Given the description of an element on the screen output the (x, y) to click on. 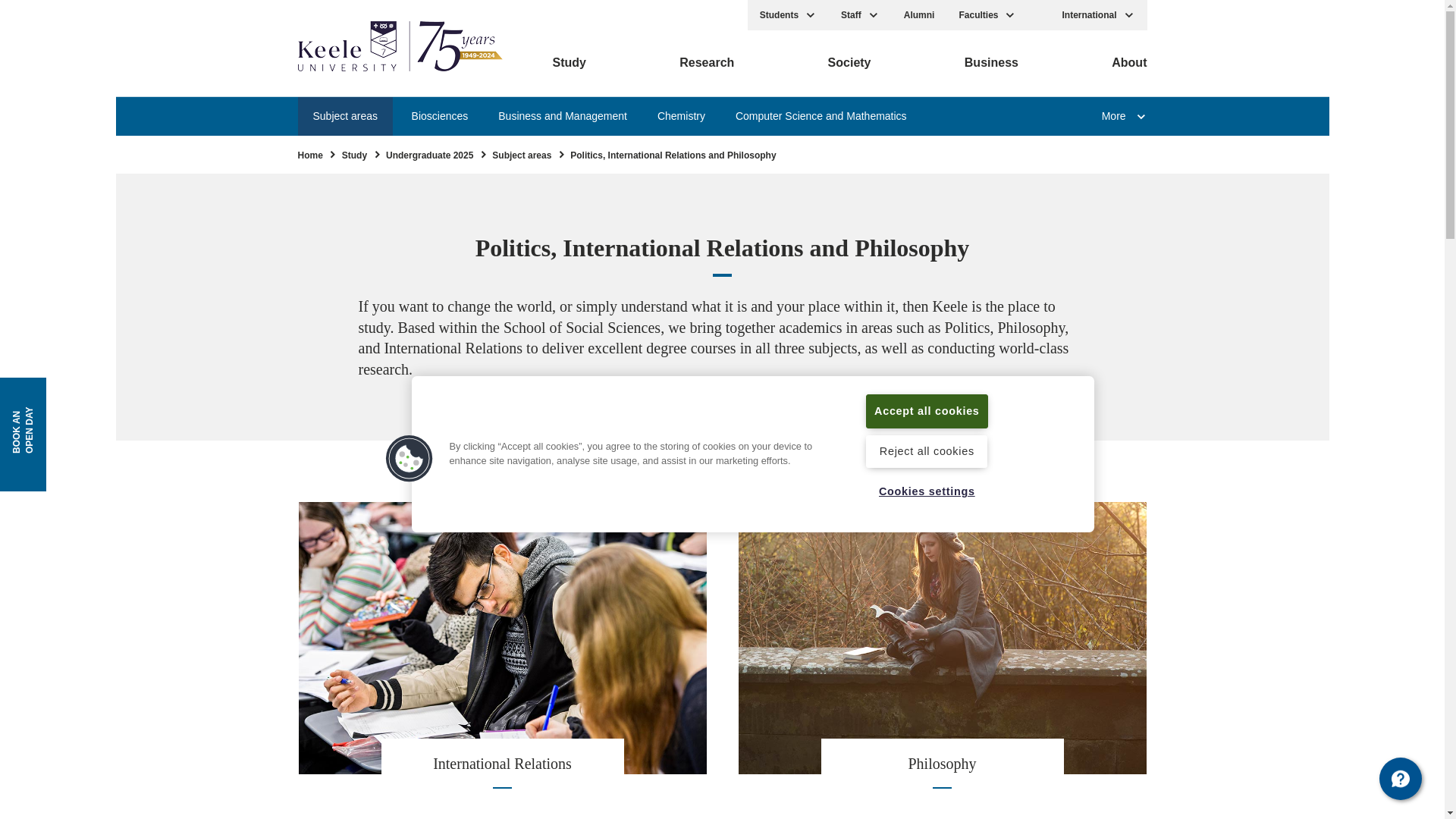
International (1098, 15)
Faculties (986, 15)
Open the Search Bar (1038, 14)
Book an open day (56, 400)
Alumni (919, 15)
Students (788, 15)
Staff (859, 15)
